Given the description of an element on the screen output the (x, y) to click on. 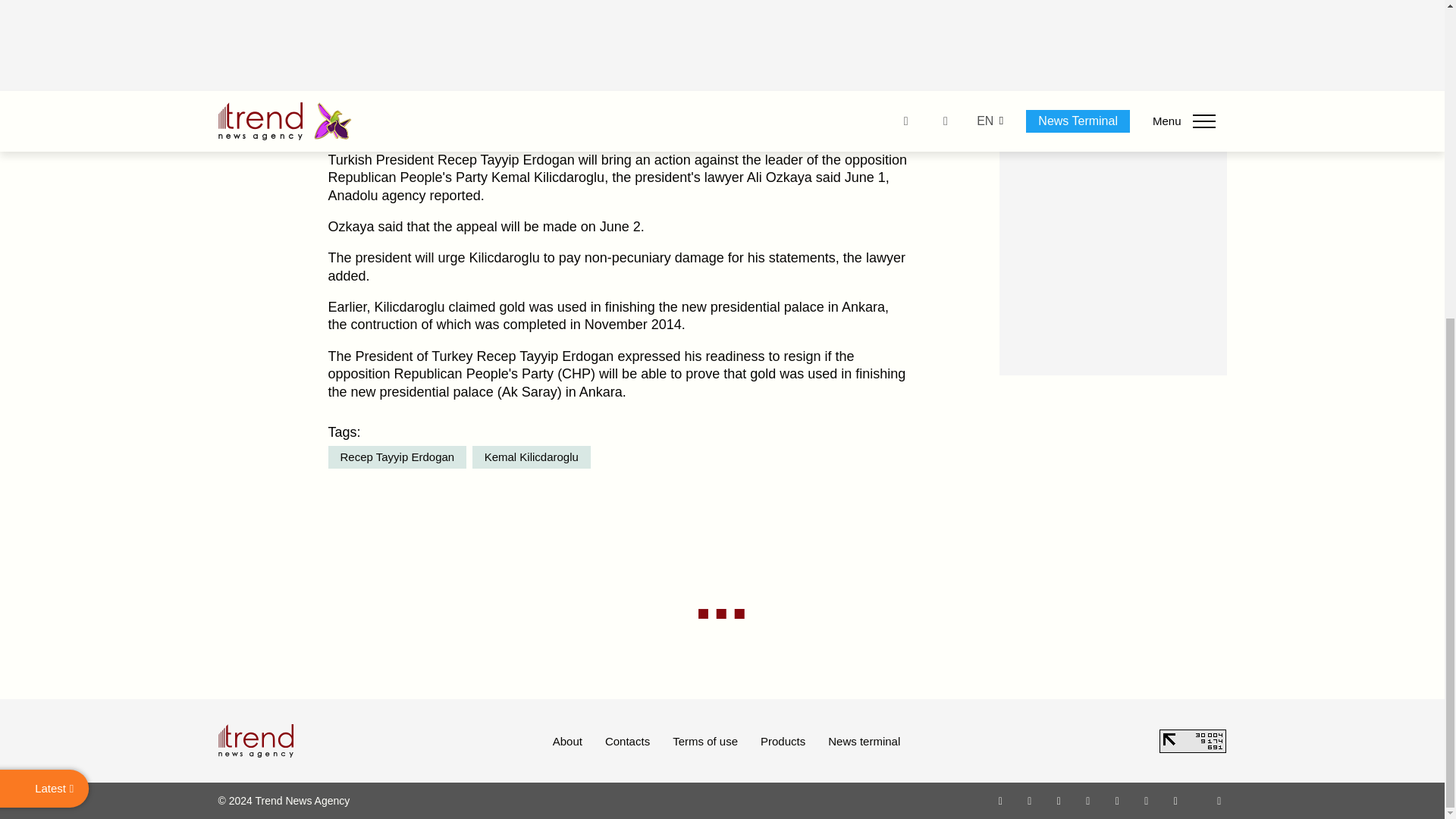
Twitter (1059, 800)
LinkedIn (1146, 800)
Youtube (1088, 800)
RSS Feed (1219, 800)
Facebook (1029, 800)
Android App (1176, 800)
Telegram (1117, 800)
Whatsapp (1000, 800)
